Given the description of an element on the screen output the (x, y) to click on. 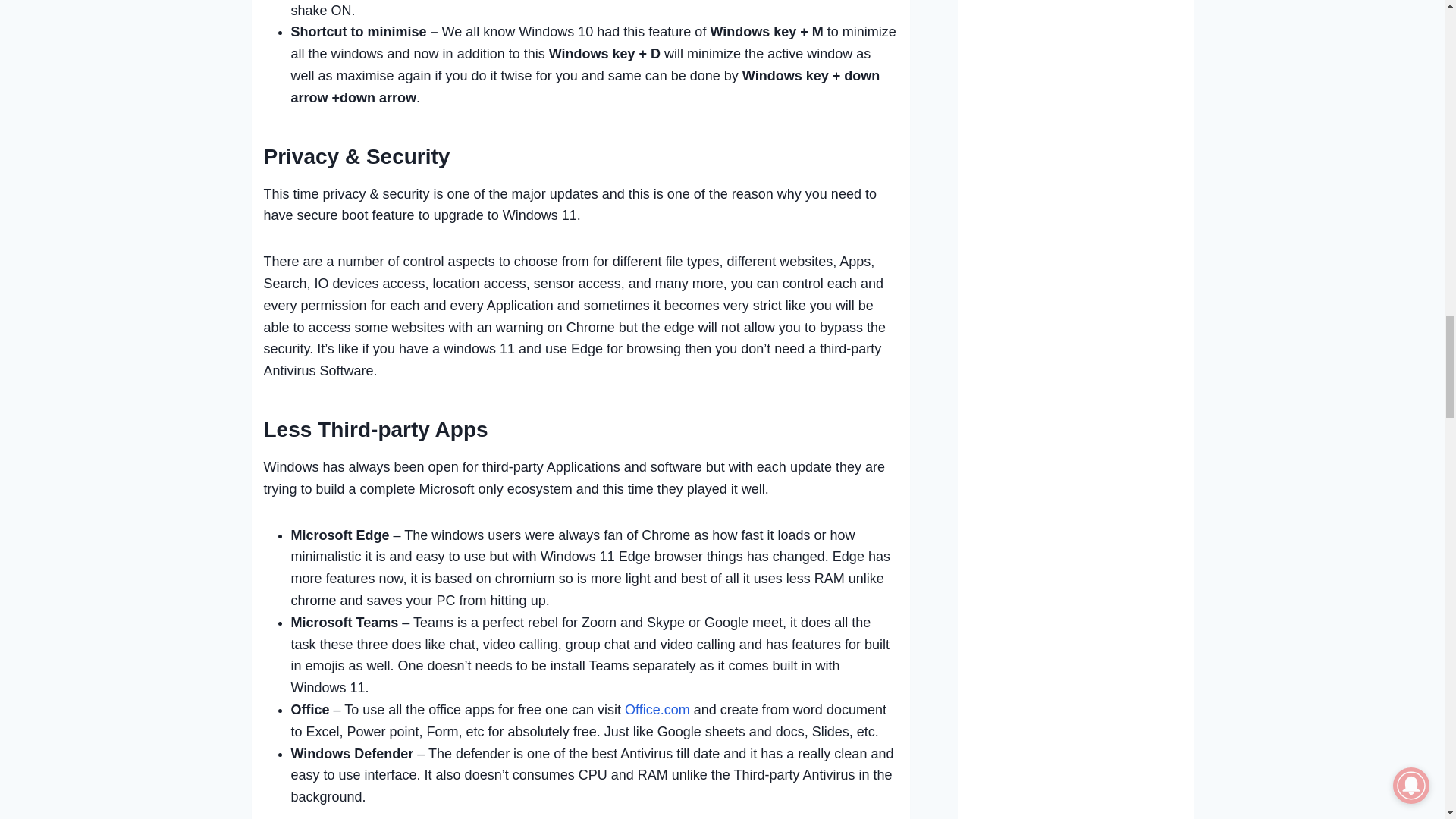
Office.com (657, 709)
